Given the description of an element on the screen output the (x, y) to click on. 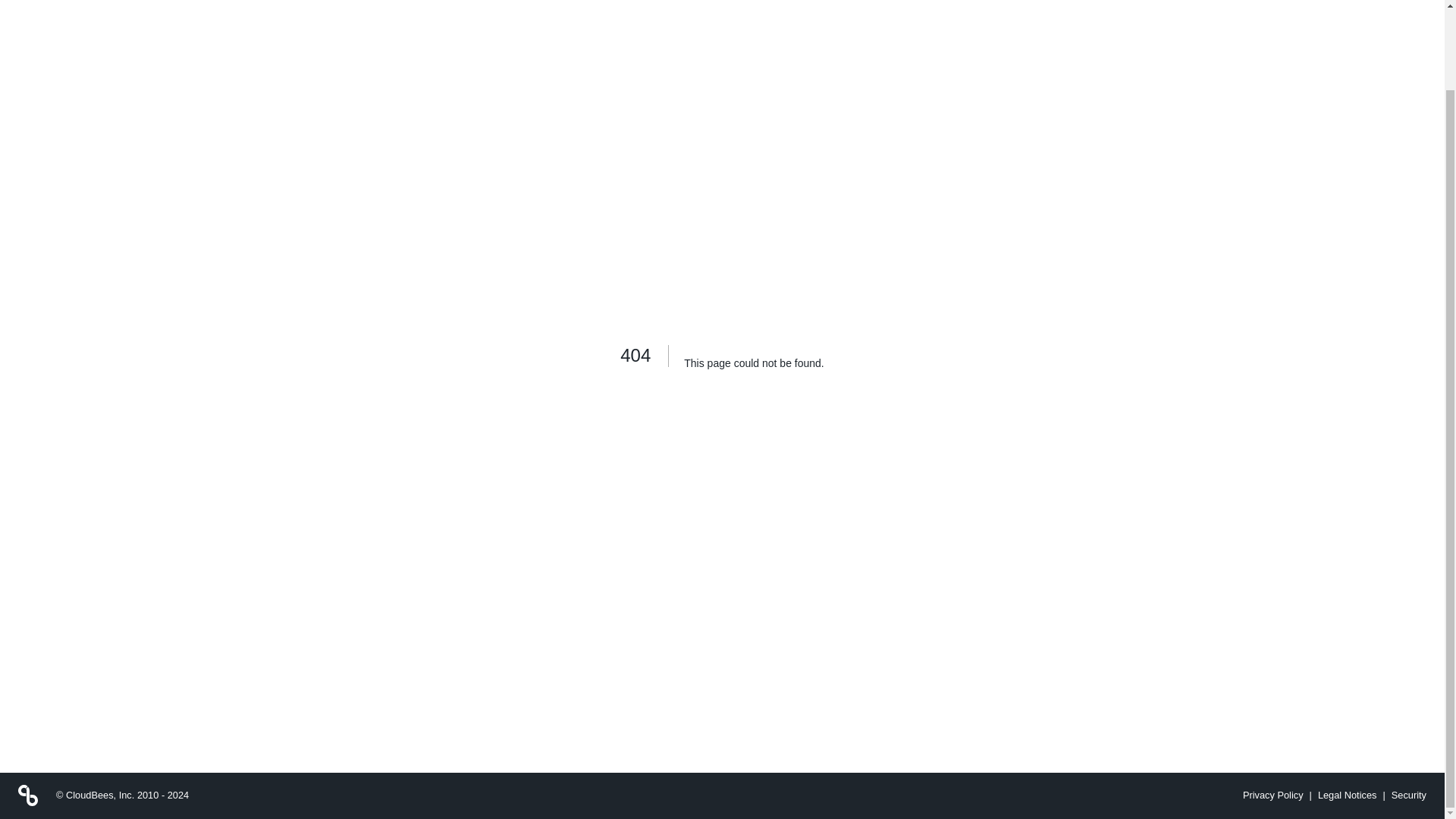
Privacy Policy (1275, 794)
Legal Notices (1347, 794)
Security (1406, 794)
